Given the description of an element on the screen output the (x, y) to click on. 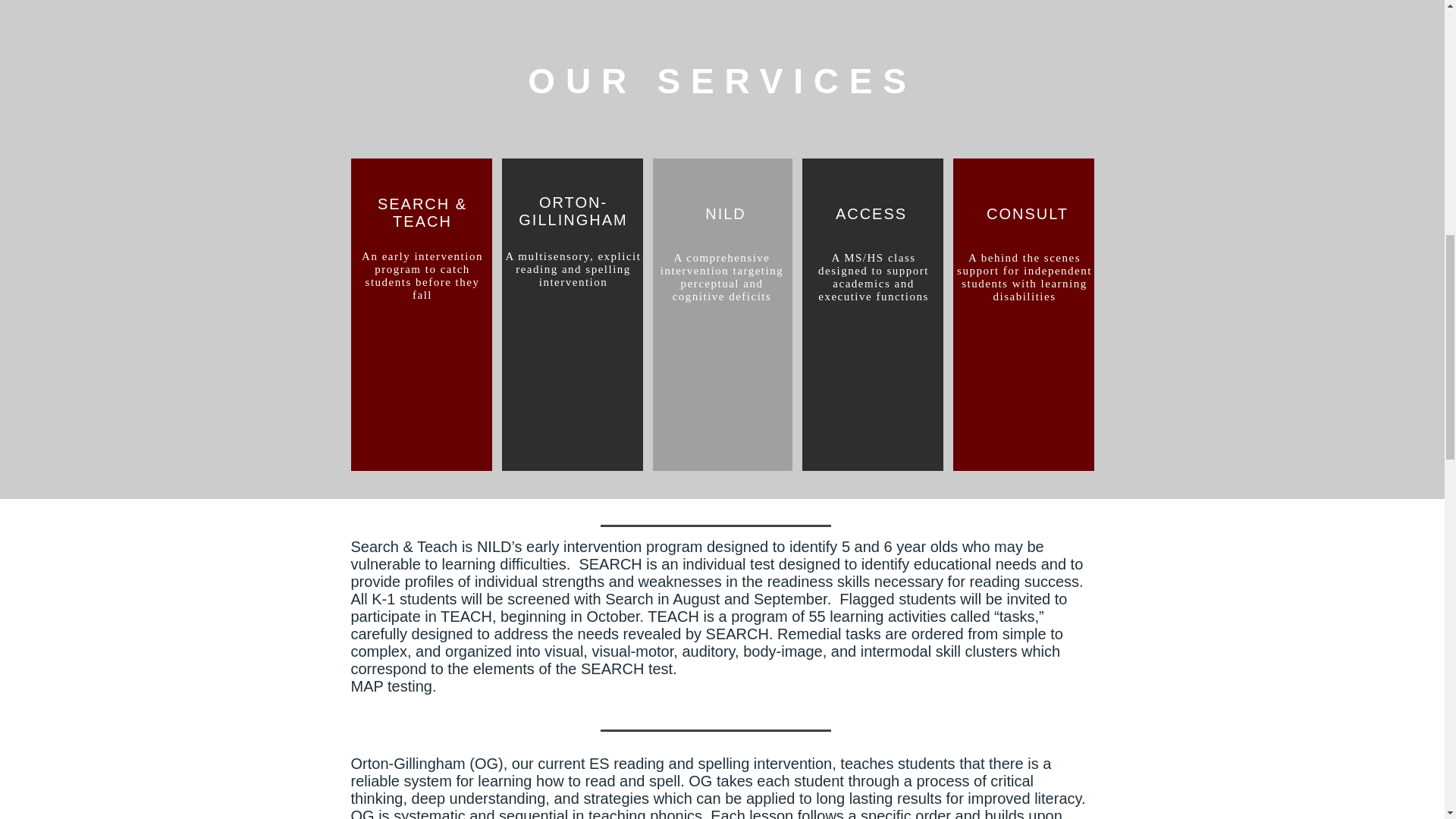
NILD (724, 213)
ACCESS (871, 213)
A multisensory, explicit reading and spelling intervention (573, 269)
ORTON-GILLINGHAM (572, 211)
